Given the description of an element on the screen output the (x, y) to click on. 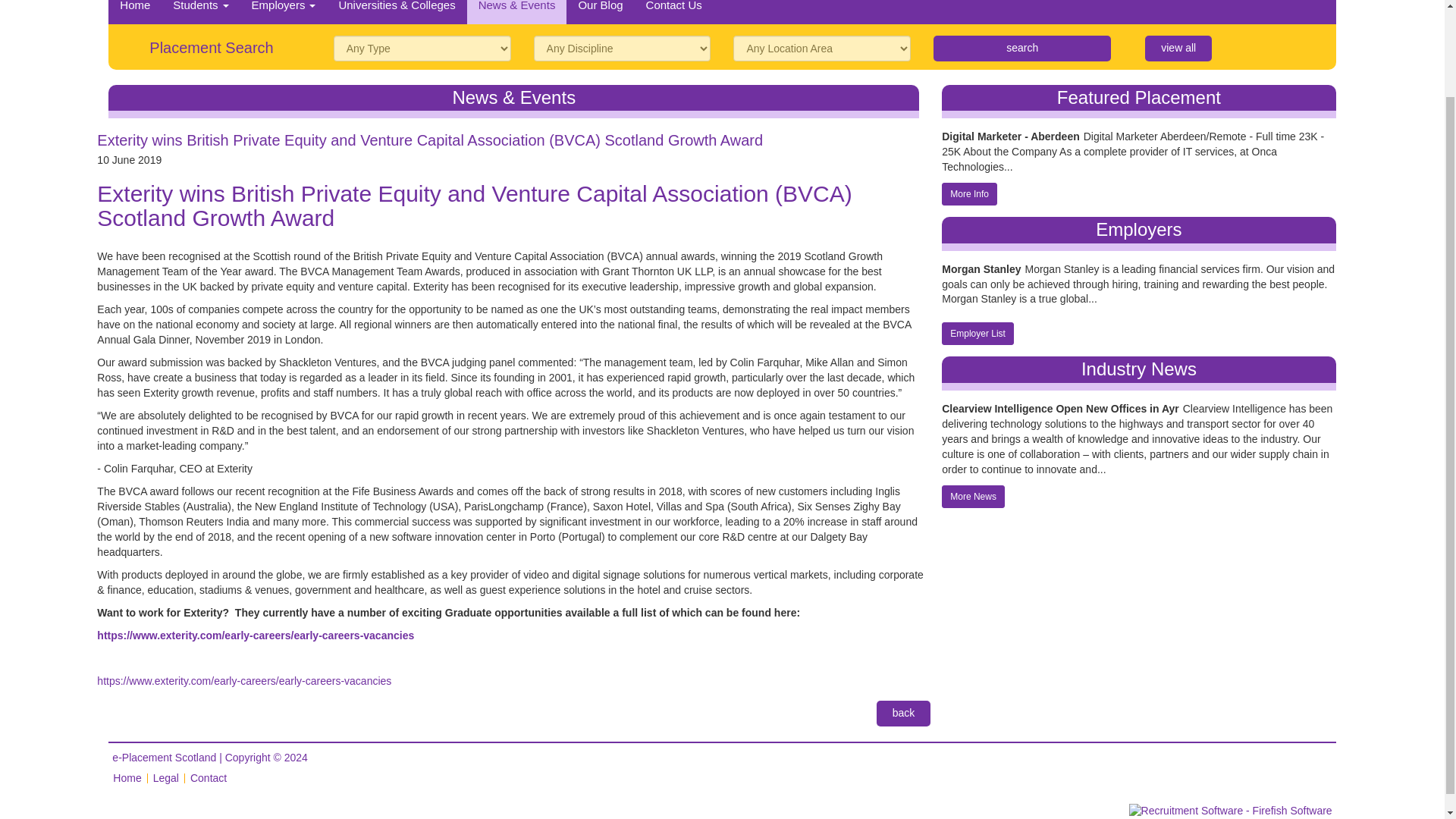
Clearview Intelligence Open New Offices in Ayr (1060, 408)
Search (1021, 48)
Search (1021, 48)
Recruitment Software - Firefish Software (1230, 810)
Search (1021, 48)
Digital Marketer - Aberdeen (1011, 136)
Home (134, 12)
Students (200, 12)
Contact Us (673, 12)
Employer List (977, 333)
See all (1177, 48)
More News (973, 496)
Morgan Stanley (981, 269)
Contact (208, 777)
Employers (283, 12)
